Given the description of an element on the screen output the (x, y) to click on. 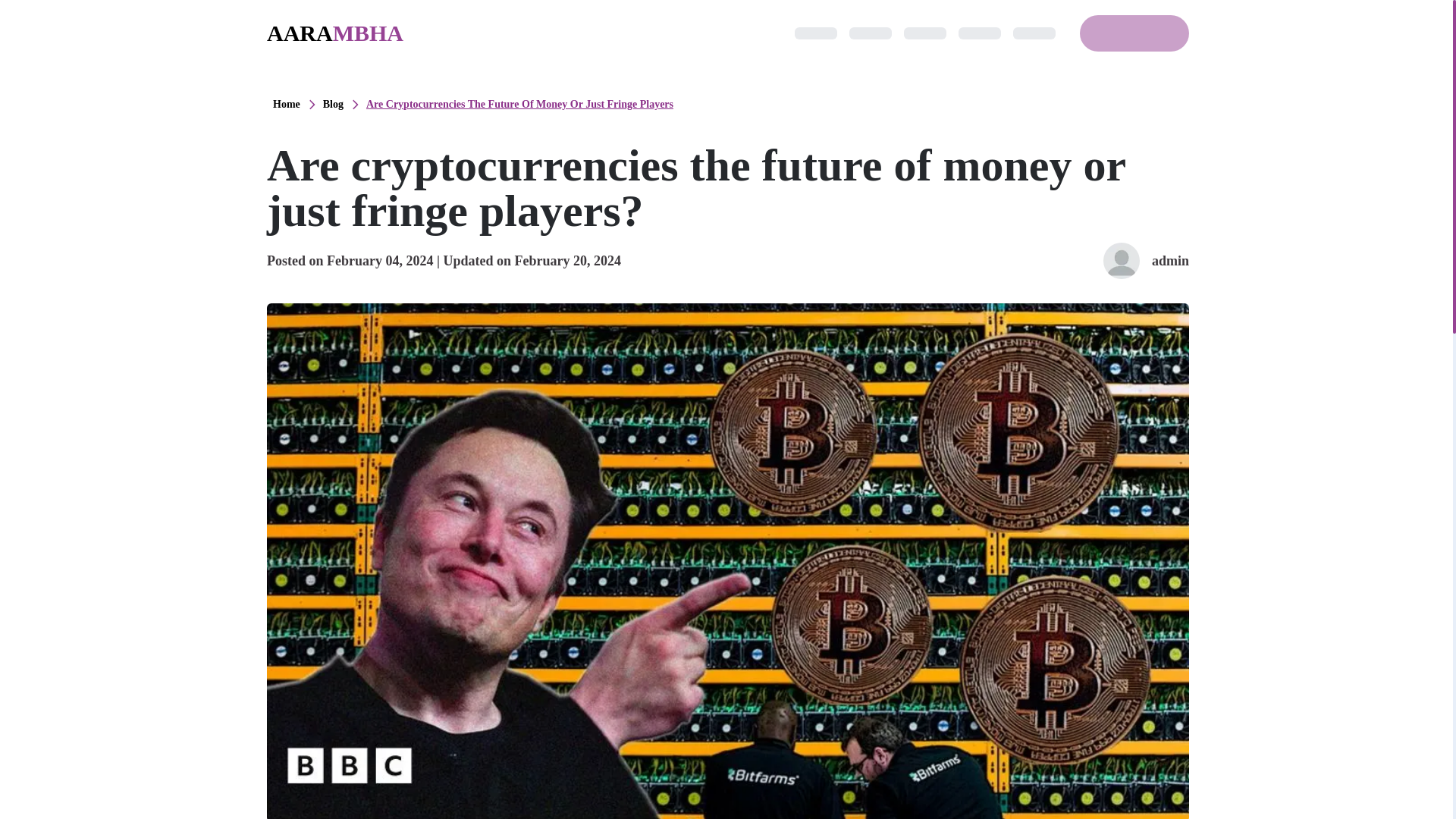
AARAMBHA (334, 32)
Home (286, 104)
Blog (333, 104)
